Given the description of an element on the screen output the (x, y) to click on. 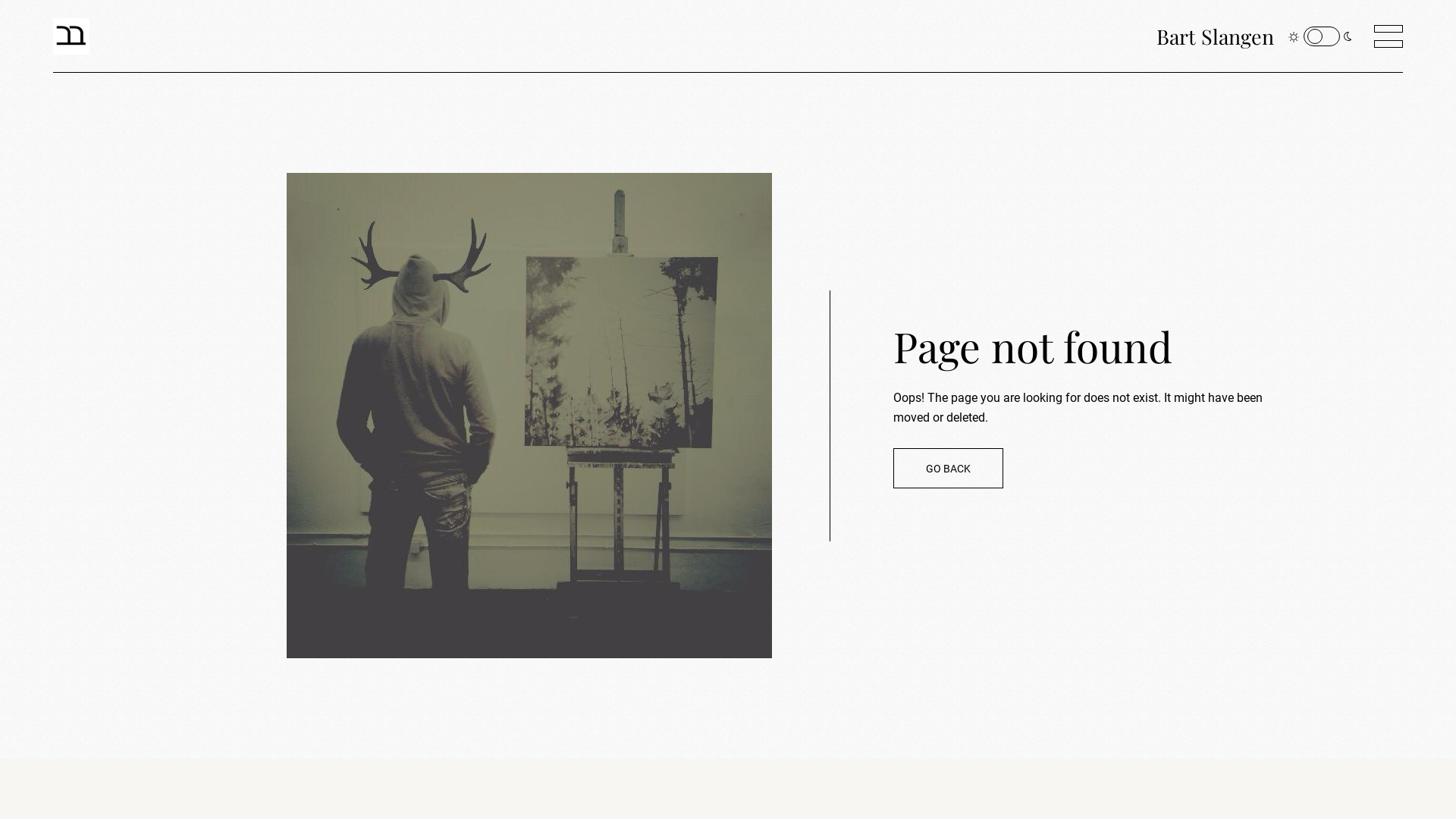
Bart Slangen Element type: text (1215, 36)
GO BACK Element type: text (948, 468)
